Given the description of an element on the screen output the (x, y) to click on. 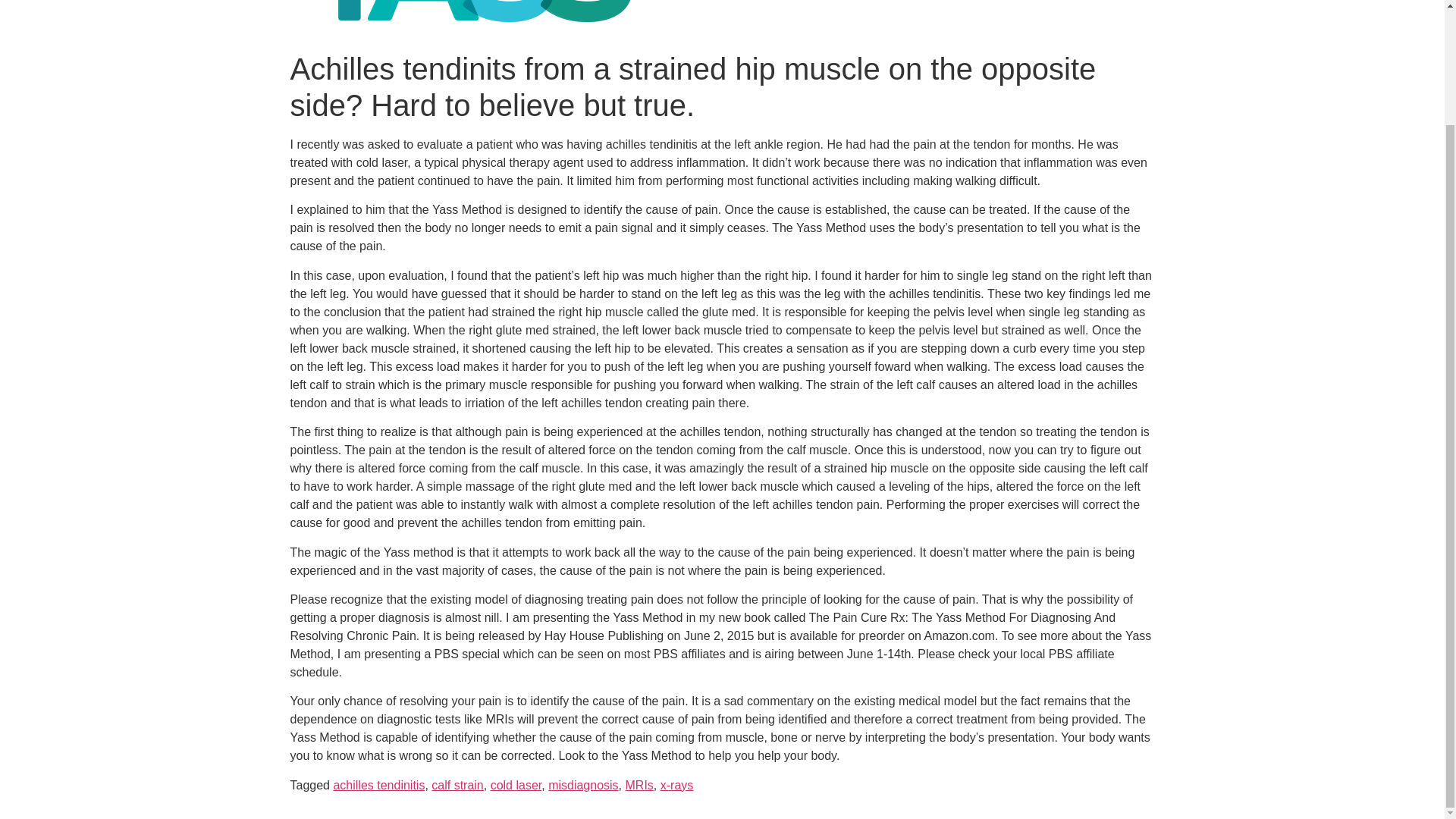
MRIs (638, 784)
cold laser (515, 784)
calf strain (456, 784)
misdiagnosis (582, 784)
x-rays (677, 784)
achilles tendinitis (379, 784)
